Given the description of an element on the screen output the (x, y) to click on. 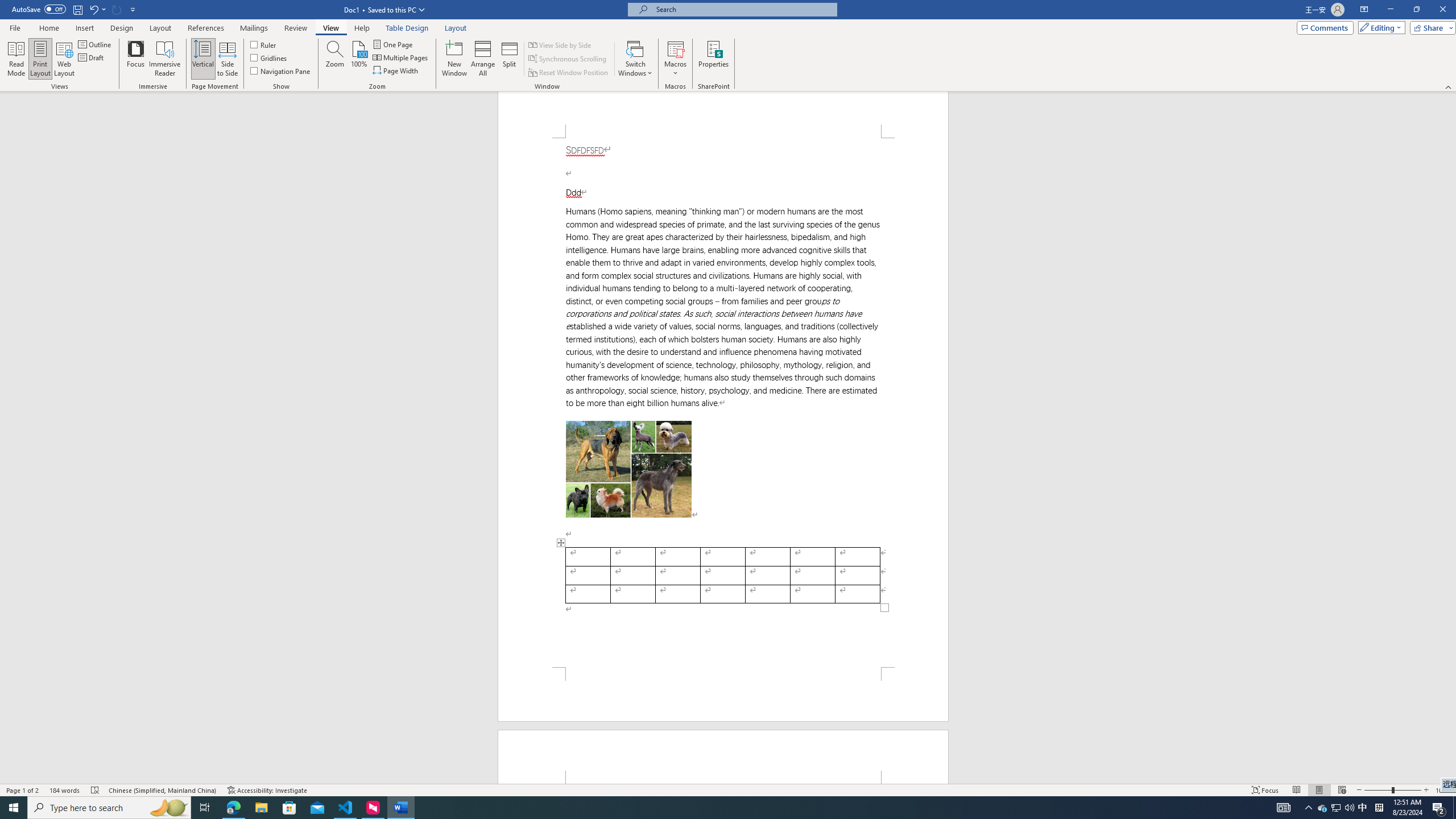
Editing (1379, 27)
Spelling and Grammar Check Errors (94, 790)
Language Chinese (Simplified, Mainland China) (162, 790)
Page 1 content (723, 402)
Arrange All (483, 58)
Page Width (396, 69)
Microsoft search (742, 9)
View Side by Side (561, 44)
